Given the description of an element on the screen output the (x, y) to click on. 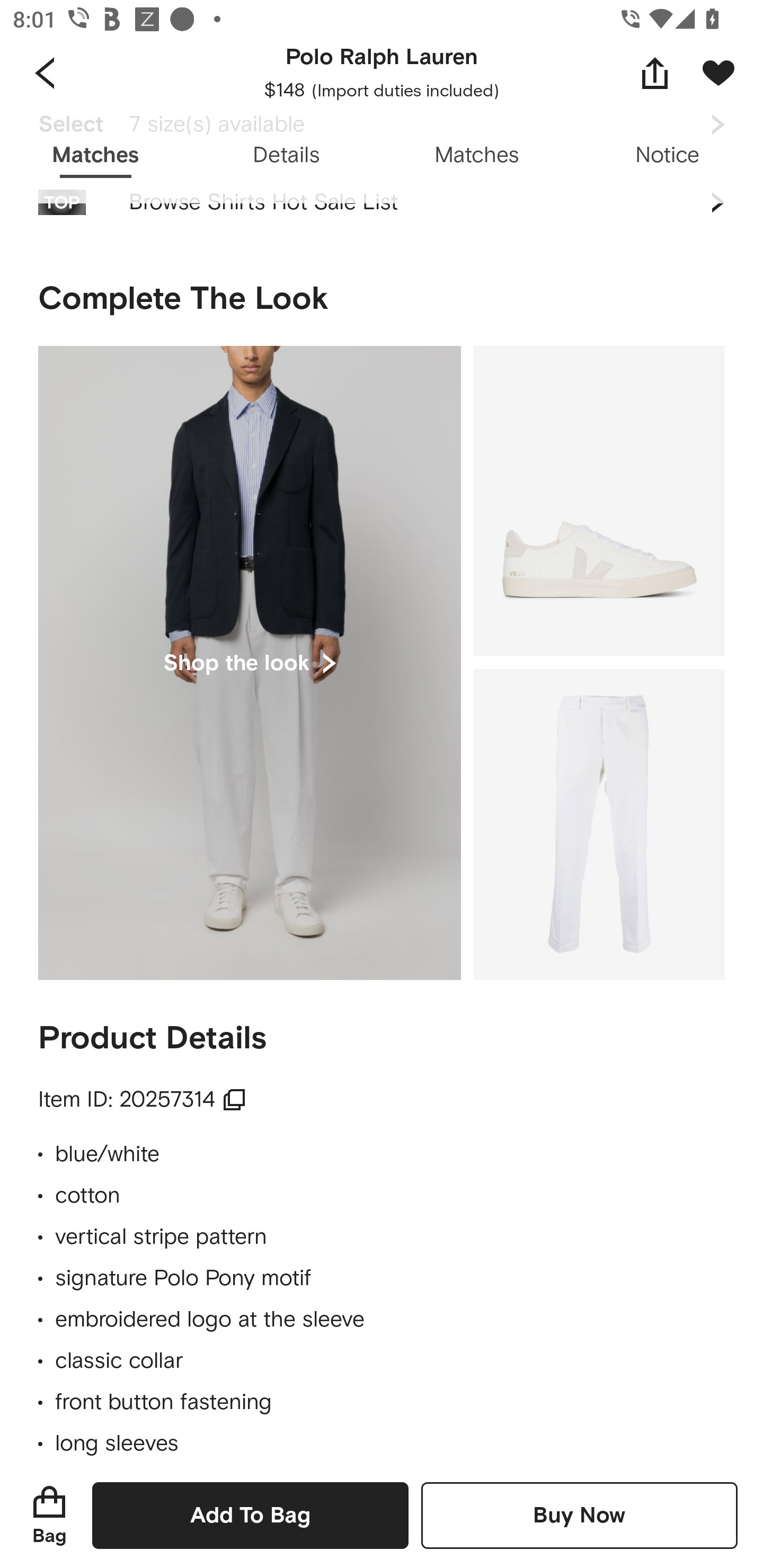
Details (285, 155)
Matches (476, 155)
Notice (667, 155)
Item ID: 20257314 (142, 1099)
Bag (49, 1515)
Add To Bag (250, 1515)
Buy Now (579, 1515)
